Given the description of an element on the screen output the (x, y) to click on. 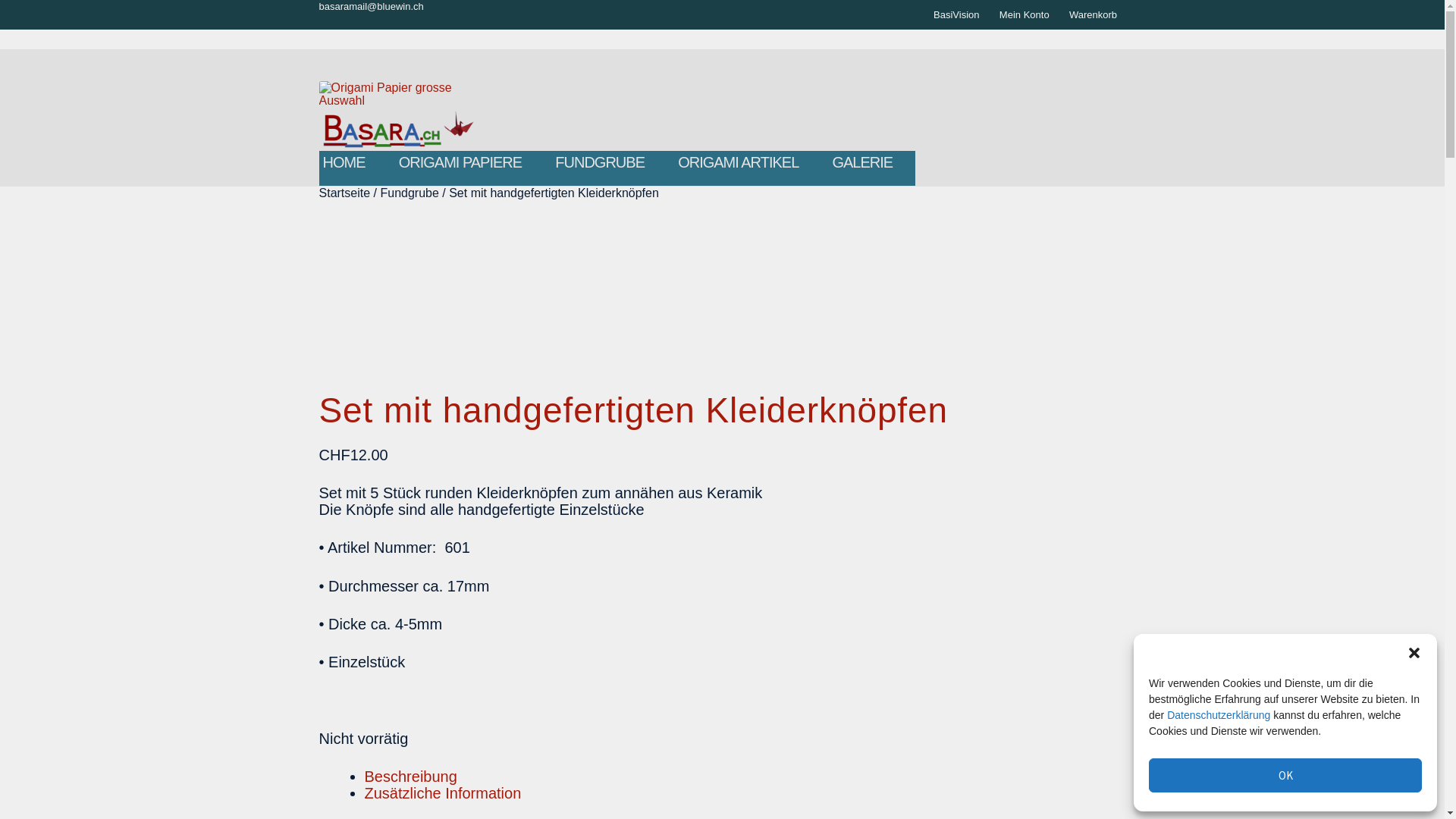
Fundgrube Element type: text (408, 192)
HOME Element type: text (343, 161)
FUNDGRUBE Element type: text (599, 161)
Startseite Element type: text (344, 192)
Zur Navigation springen Element type: text (318, 80)
Beschreibung Element type: text (410, 776)
GALERIE Element type: text (861, 161)
OK Element type: text (1284, 775)
ORIGAMI PAPIERE Element type: text (459, 161)
Warenkorb Element type: text (1093, 14)
ORIGAMI ARTIKEL Element type: text (737, 161)
basaramail@bluewin.ch Element type: text (371, 6)
BasiVision Element type: text (956, 14)
Mein Konto Element type: text (1023, 14)
